Given the description of an element on the screen output the (x, y) to click on. 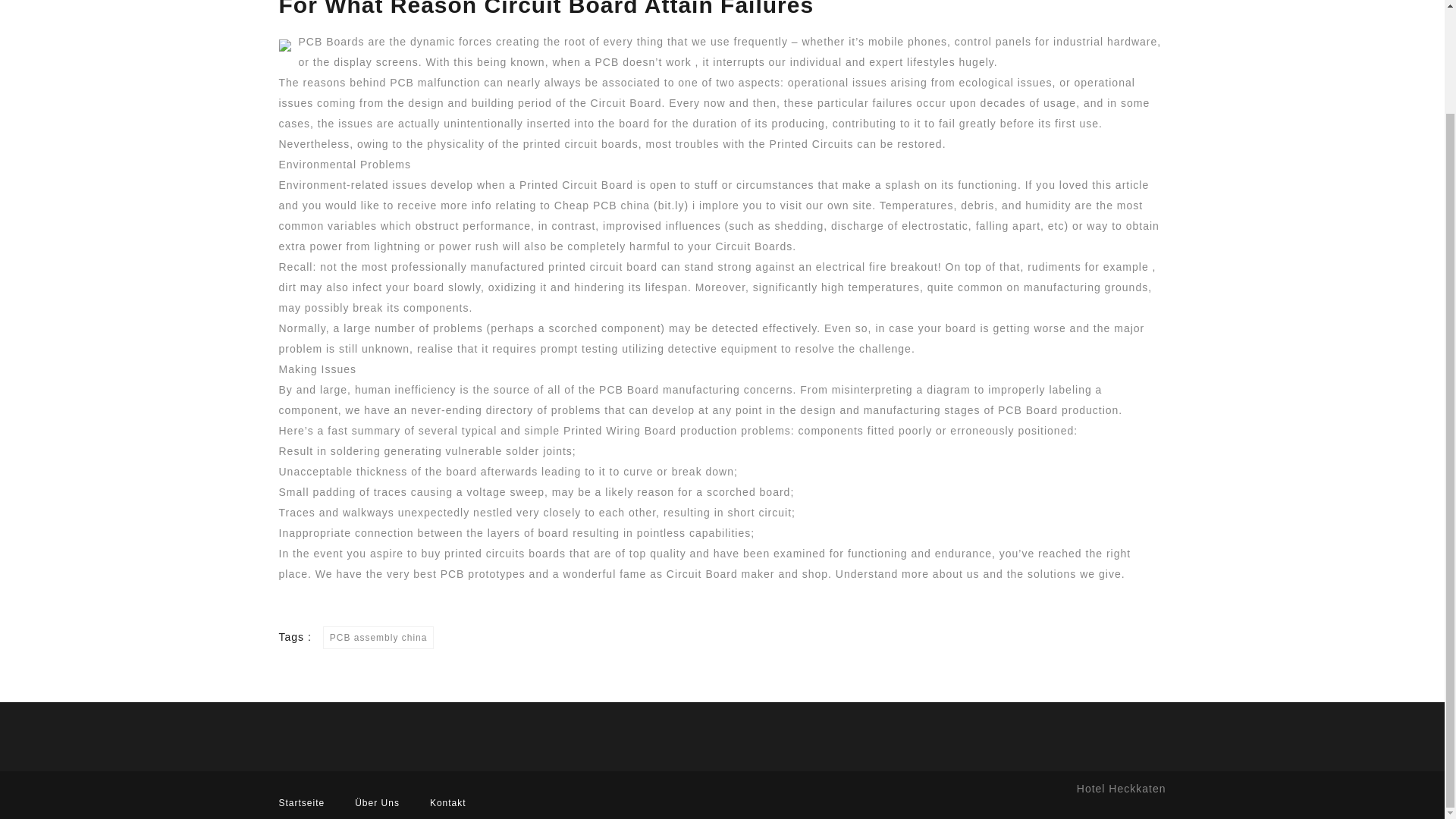
resolve (814, 348)
develop (673, 410)
bit.ly (671, 205)
PCB assembly china (378, 637)
Startseite (301, 802)
Kontakt (447, 802)
